Given the description of an element on the screen output the (x, y) to click on. 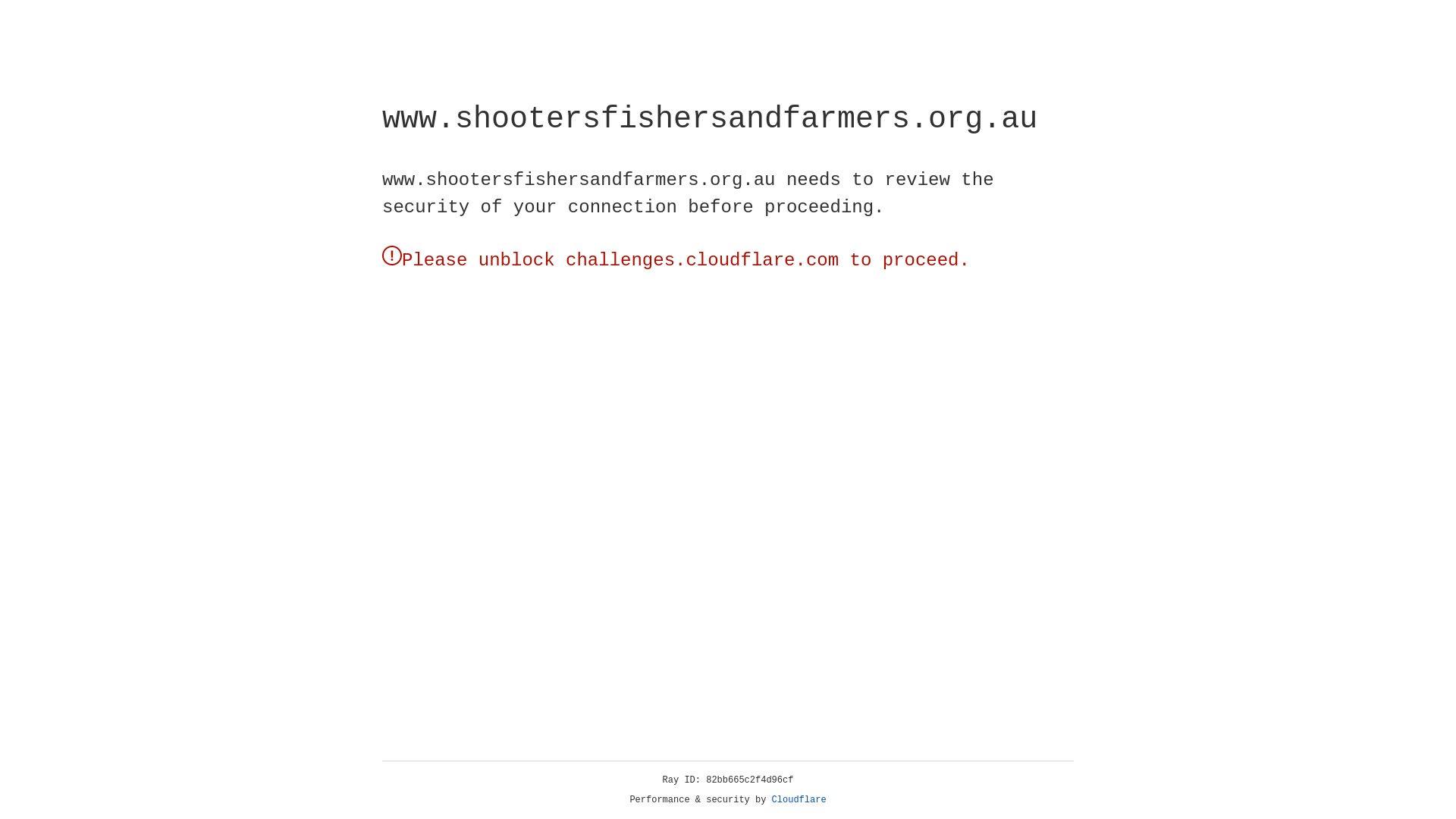
Cloudflare Element type: text (798, 799)
